Given the description of an element on the screen output the (x, y) to click on. 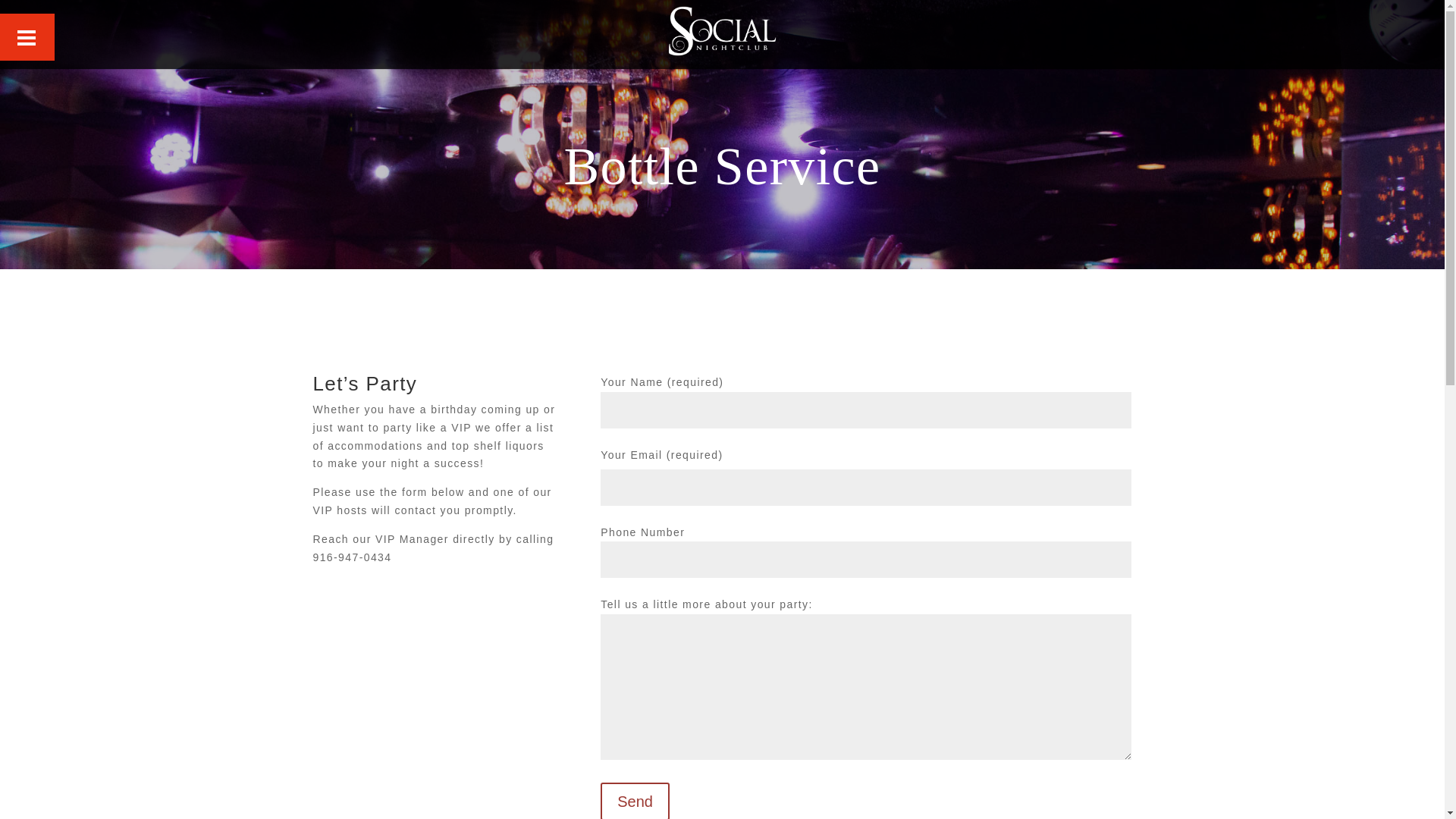
Send (634, 800)
Send (634, 800)
